Given the description of an element on the screen output the (x, y) to click on. 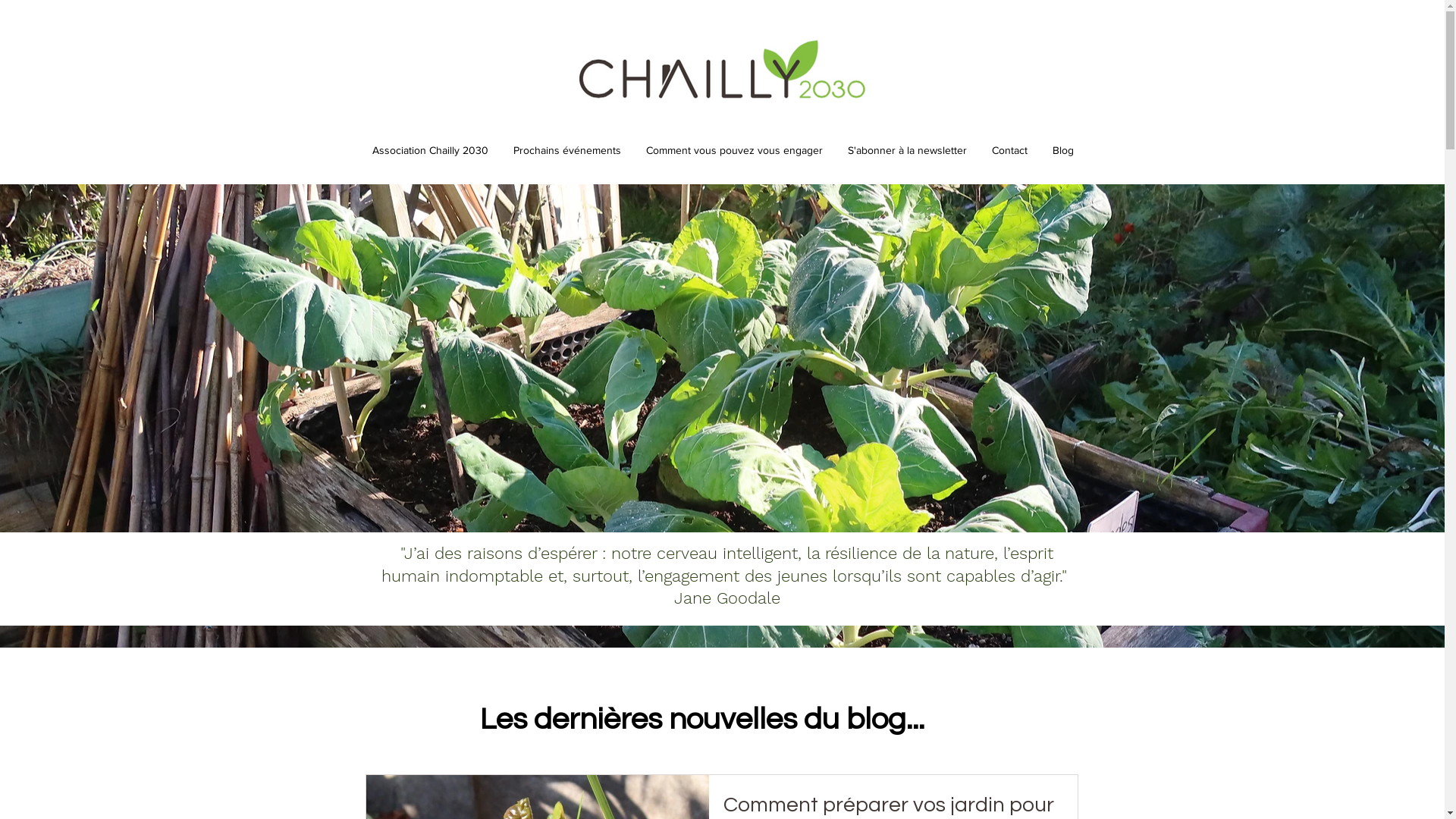
Comment vous pouvez vous engager Element type: text (734, 150)
Contact Element type: text (1009, 150)
Association Chailly 2030 Element type: text (429, 150)
Blog Element type: text (1062, 150)
